Given the description of an element on the screen output the (x, y) to click on. 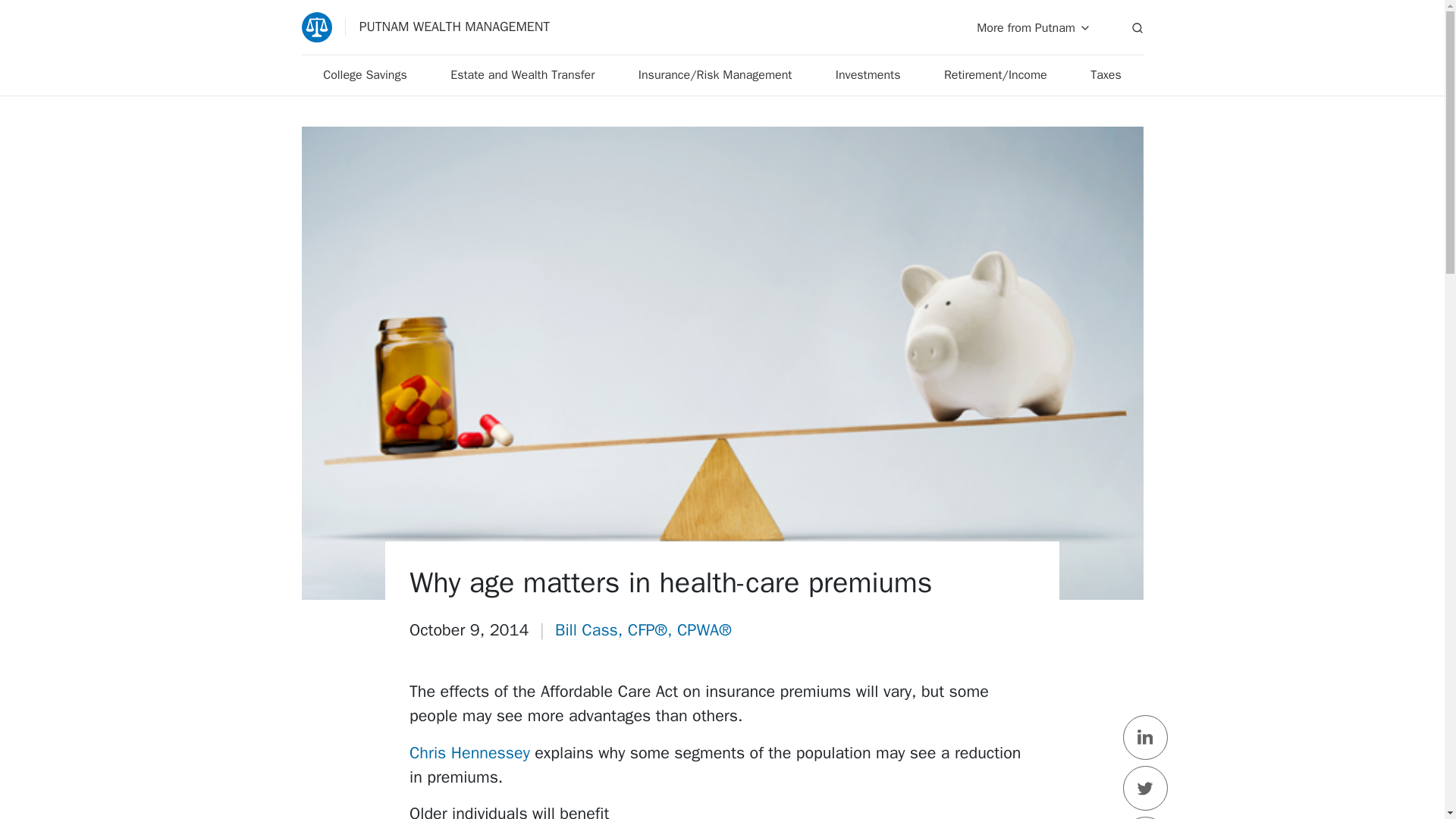
Chris Hennessey (469, 752)
Estate and Wealth Transfer (521, 75)
PUTNAM WEALTH MANAGEMENT (425, 26)
College Savings (365, 75)
Investments (868, 75)
More from Putnam (1033, 27)
Taxes (1105, 75)
